Given the description of an element on the screen output the (x, y) to click on. 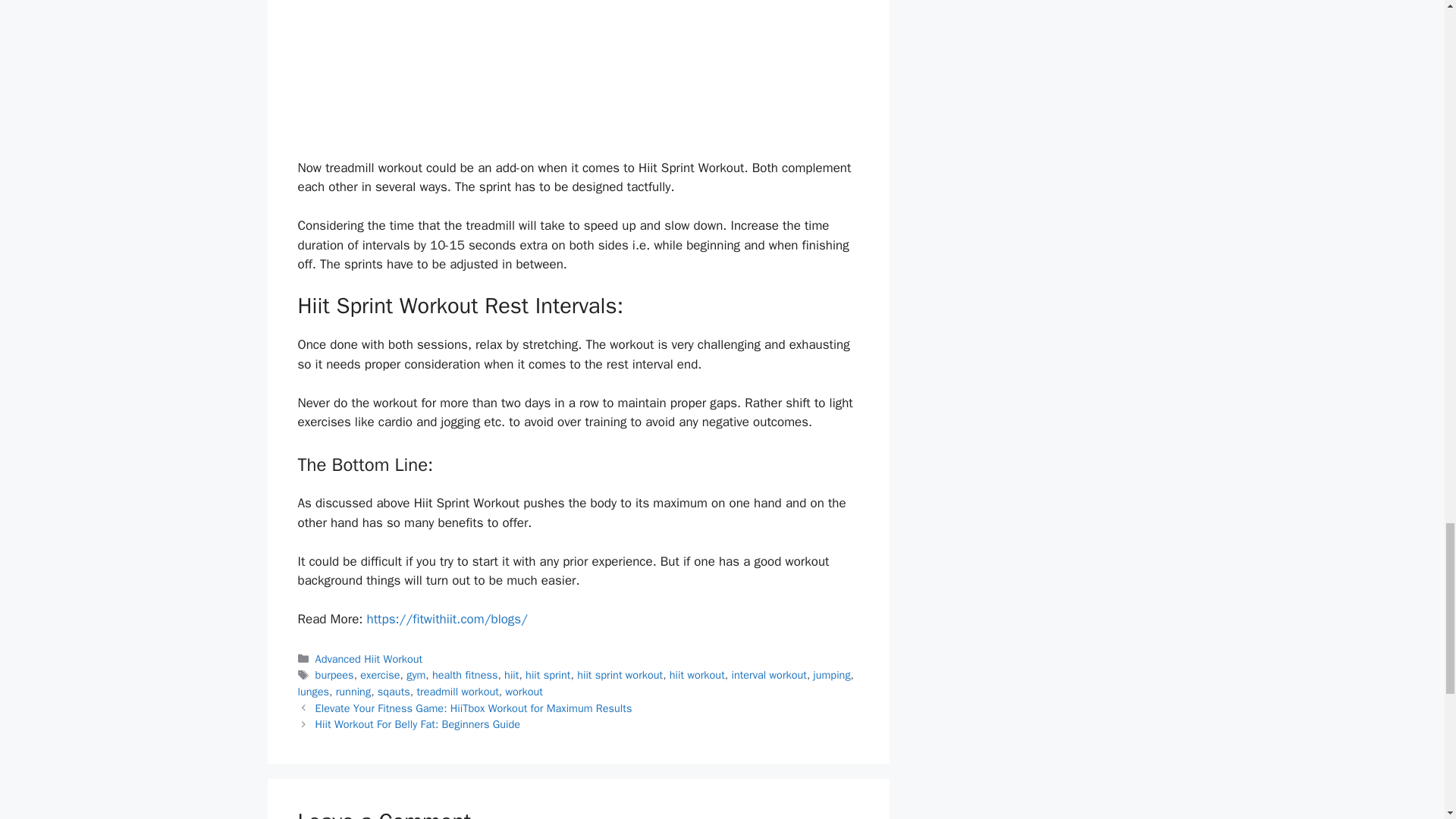
lunges (313, 691)
health fitness (464, 674)
hiit (510, 674)
Hiit Workout For Belly Fat: Beginners Guide (417, 724)
interval workout (768, 674)
gym (415, 674)
exercise (378, 674)
running (353, 691)
hiit sprint workout (619, 674)
